Given the description of an element on the screen output the (x, y) to click on. 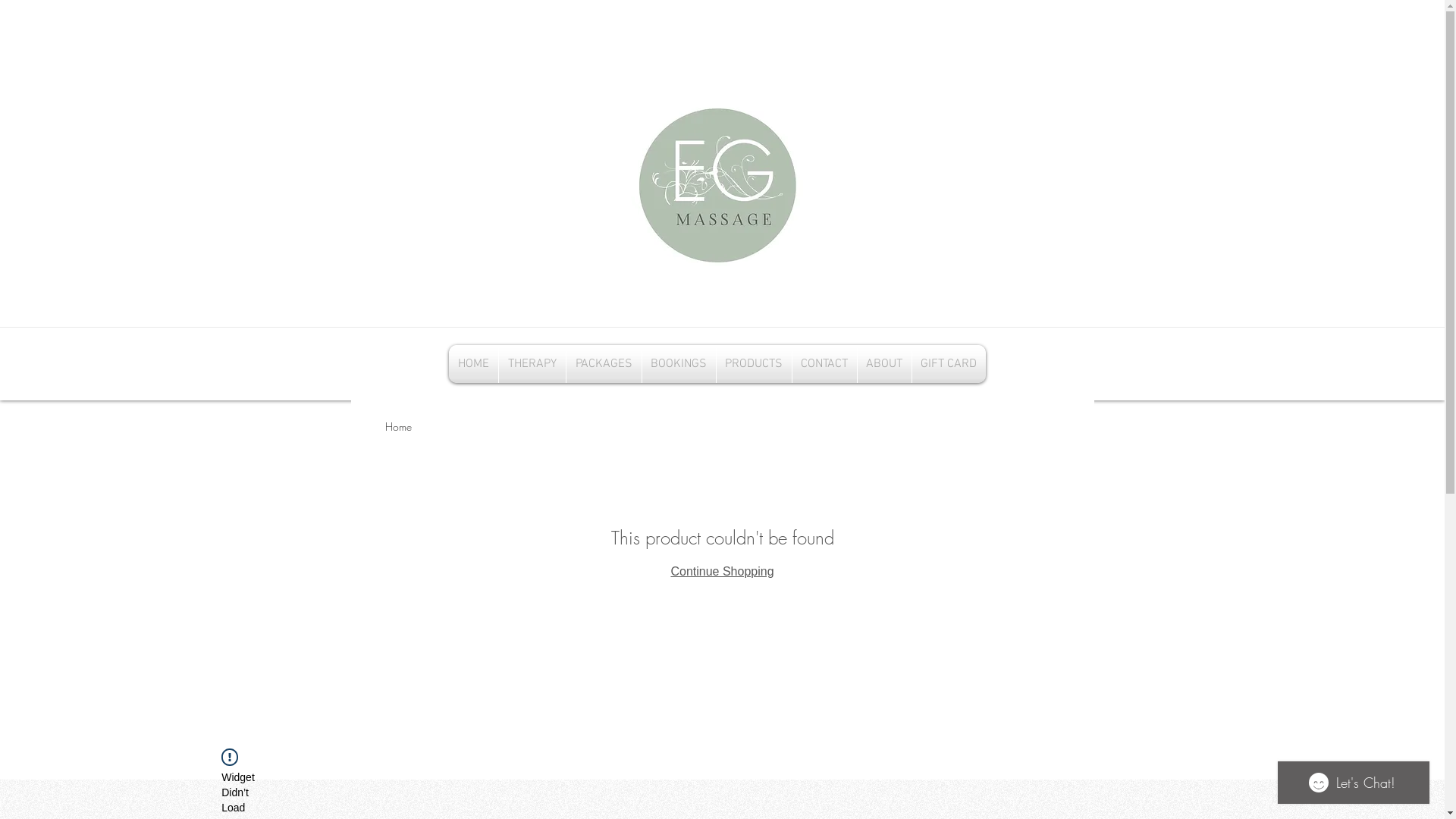
BOOKINGS Element type: text (678, 363)
PRODUCTS Element type: text (752, 363)
Home Element type: text (398, 426)
CONTACT Element type: text (823, 363)
ABOUT Element type: text (883, 363)
THERAPY Element type: text (531, 363)
Continue Shopping Element type: text (721, 570)
HOME Element type: text (473, 363)
GIFT CARD Element type: text (948, 363)
PACKAGES Element type: text (602, 363)
